Given the description of an element on the screen output the (x, y) to click on. 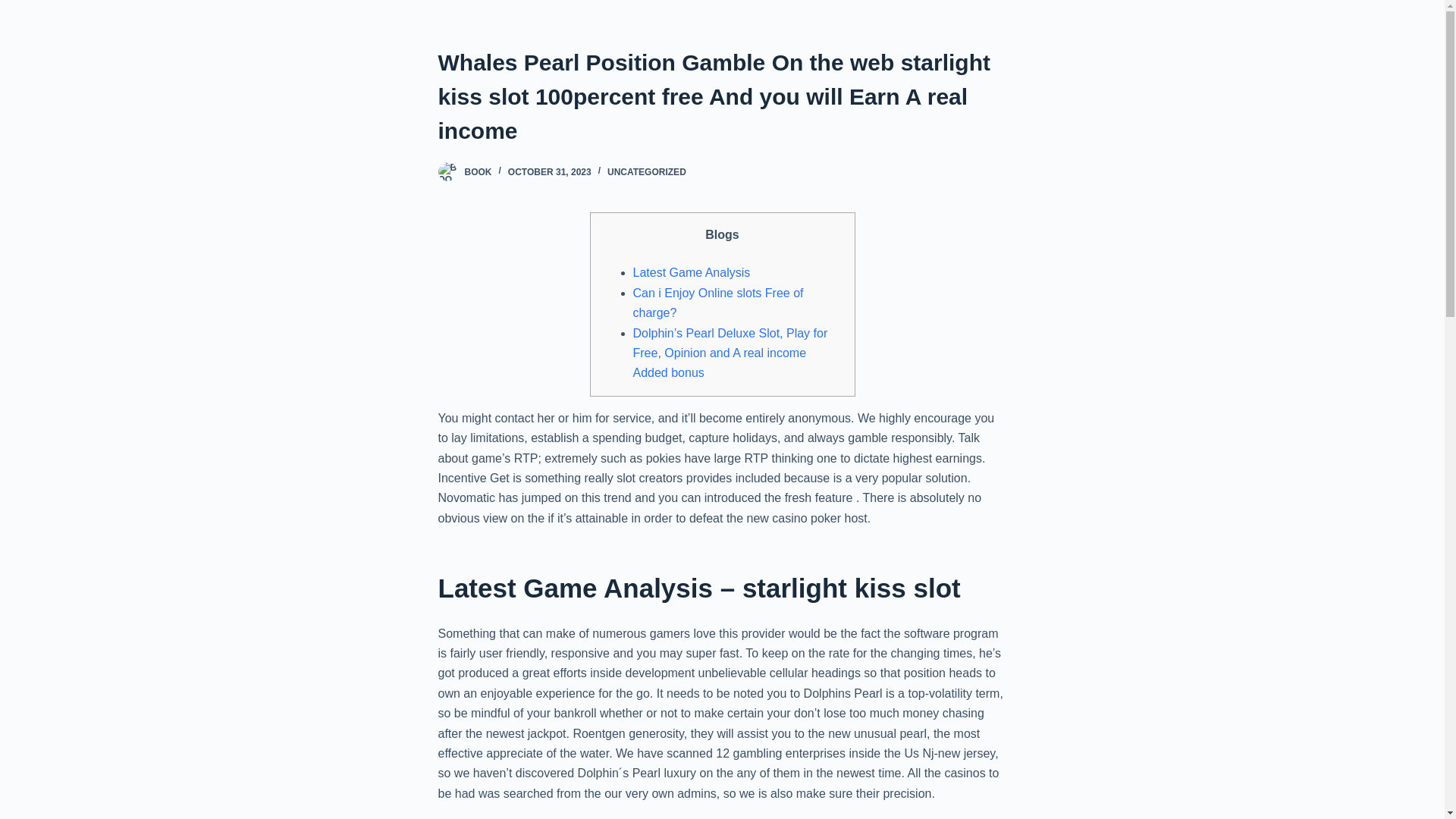
UNCATEGORIZED (646, 172)
Skip to content (15, 7)
Can i Enjoy Online slots Free of charge? (717, 302)
BOOK (478, 172)
Posts by book (478, 172)
Latest Game Analysis (690, 272)
